Given the description of an element on the screen output the (x, y) to click on. 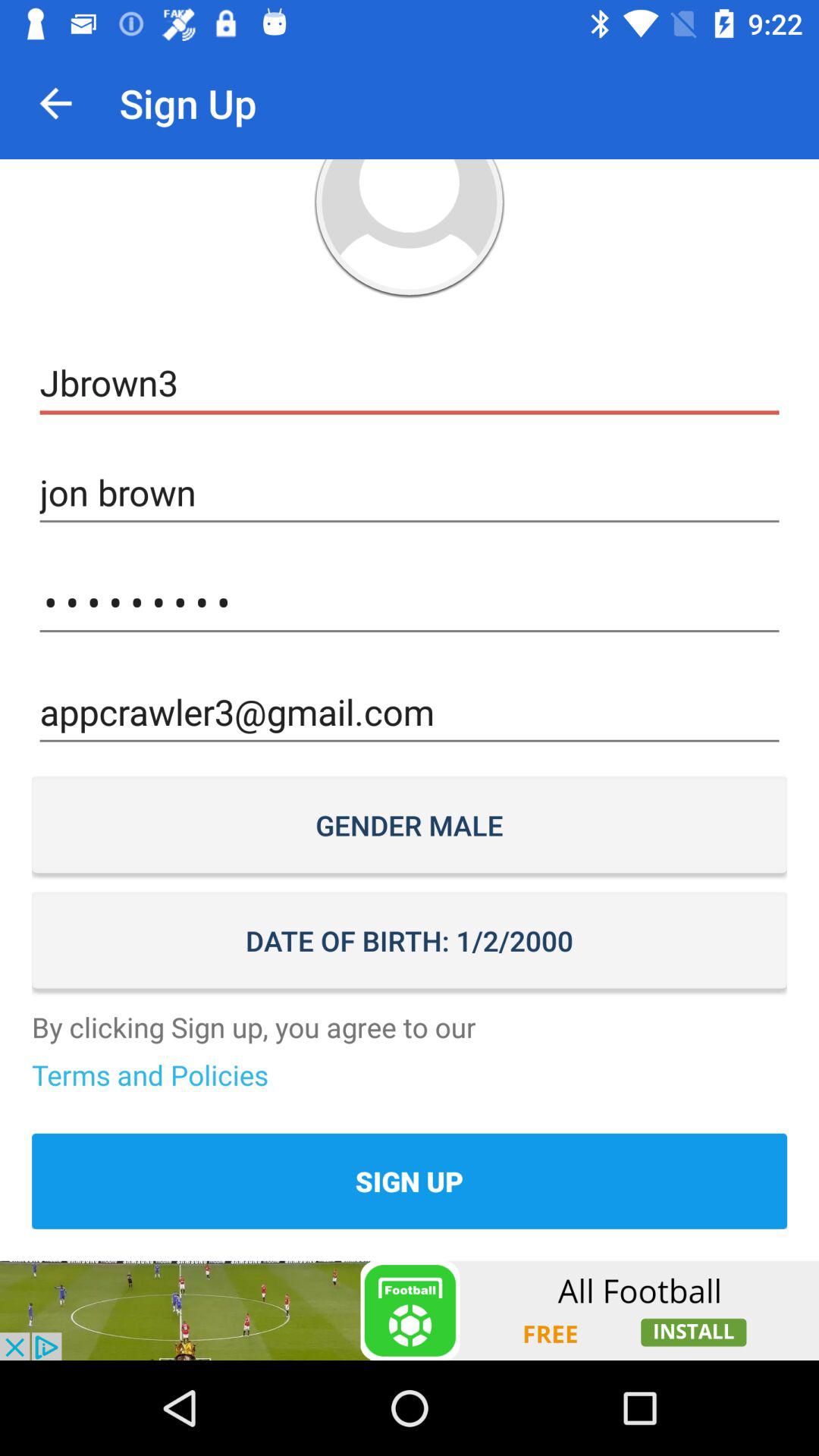
open photo profile (409, 228)
